Given the description of an element on the screen output the (x, y) to click on. 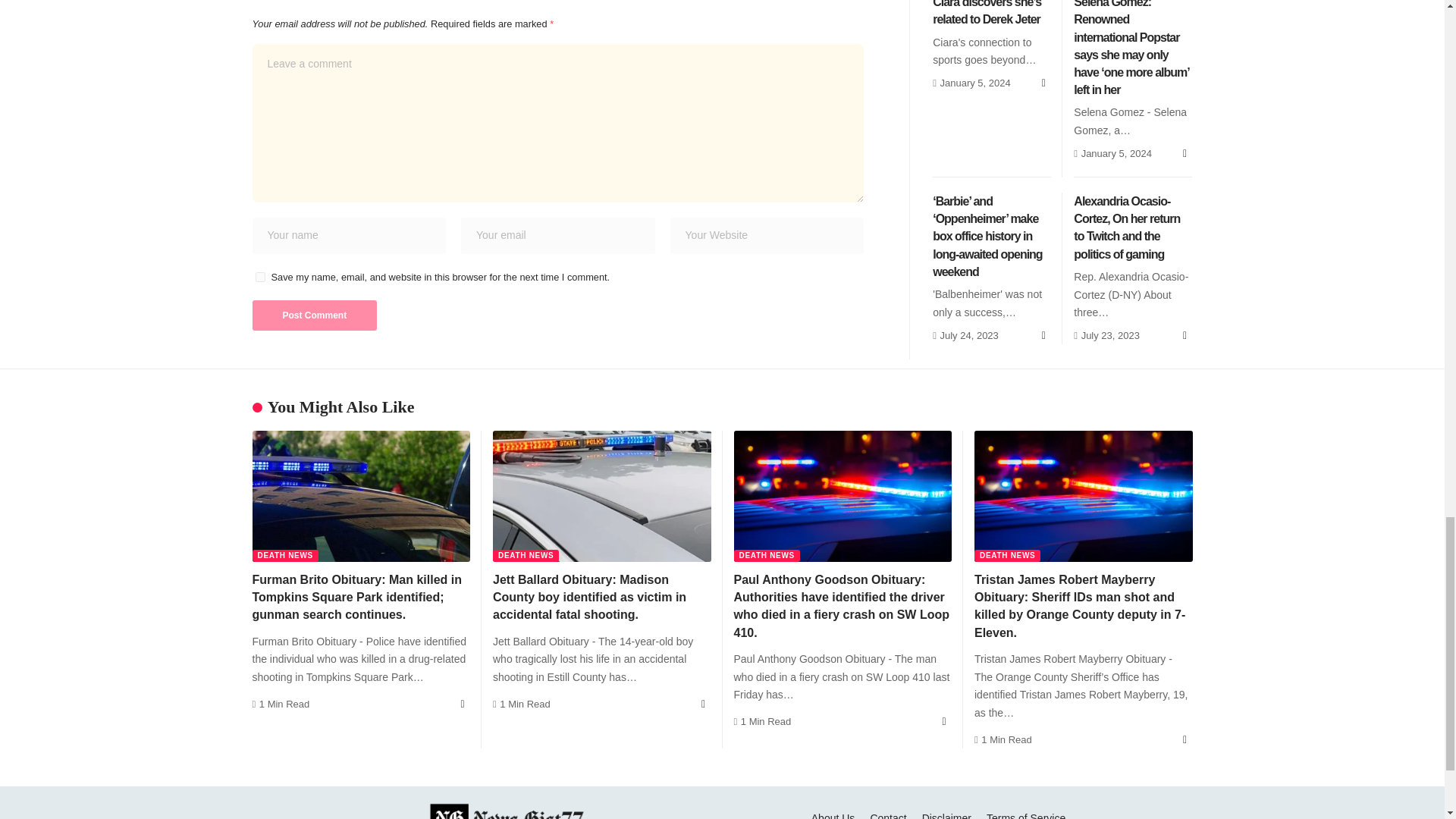
yes (259, 276)
Post Comment (314, 315)
